Given the description of an element on the screen output the (x, y) to click on. 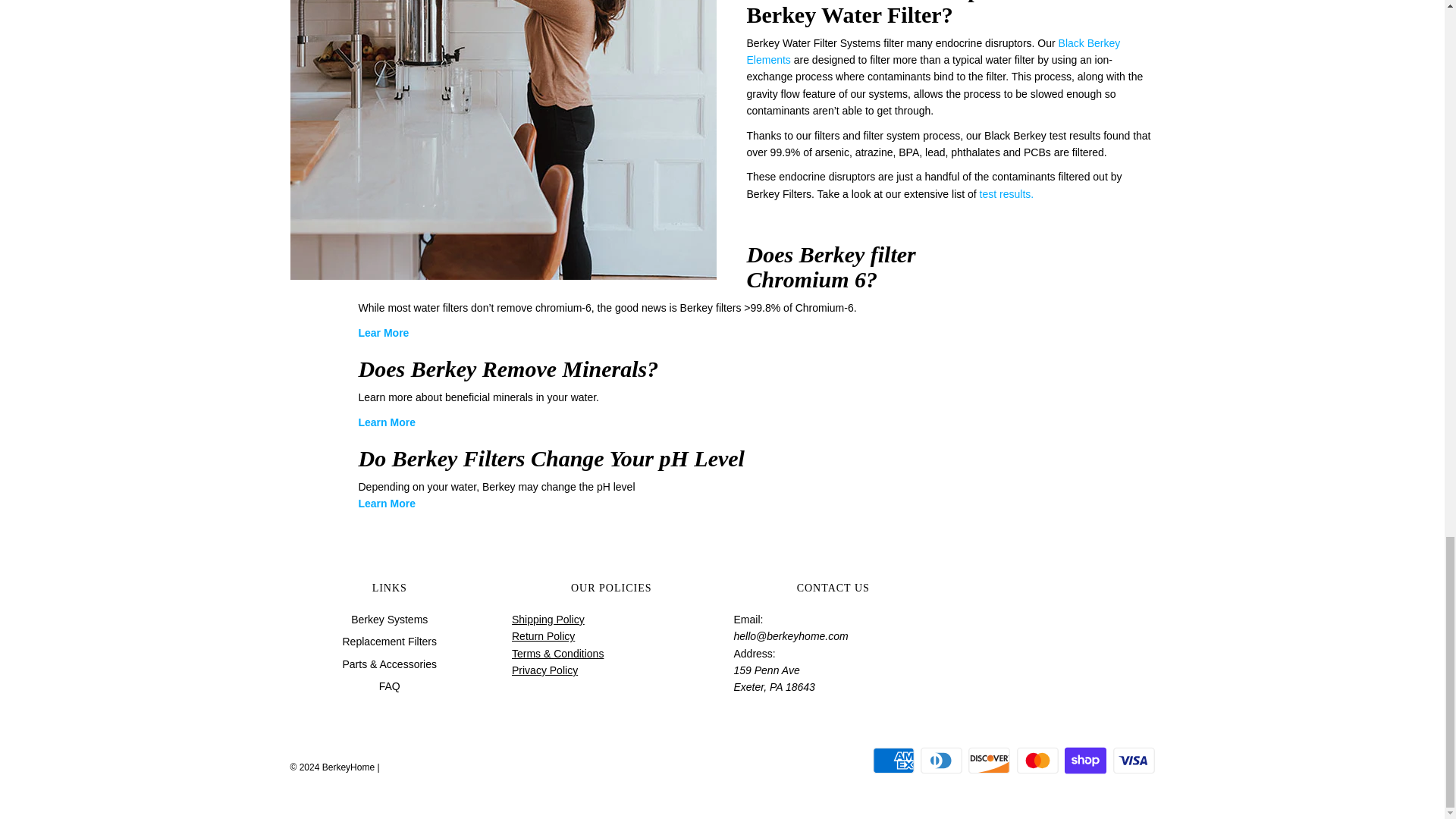
Shop Pay (1085, 760)
Visa (1133, 760)
Discover (989, 760)
American Express (893, 760)
Berkey change pf level of water (386, 503)
Terms of Service (558, 653)
Mastercard (1037, 760)
Black Filters (932, 51)
Diners Club (941, 760)
Refund Policy (543, 635)
